Given the description of an element on the screen output the (x, y) to click on. 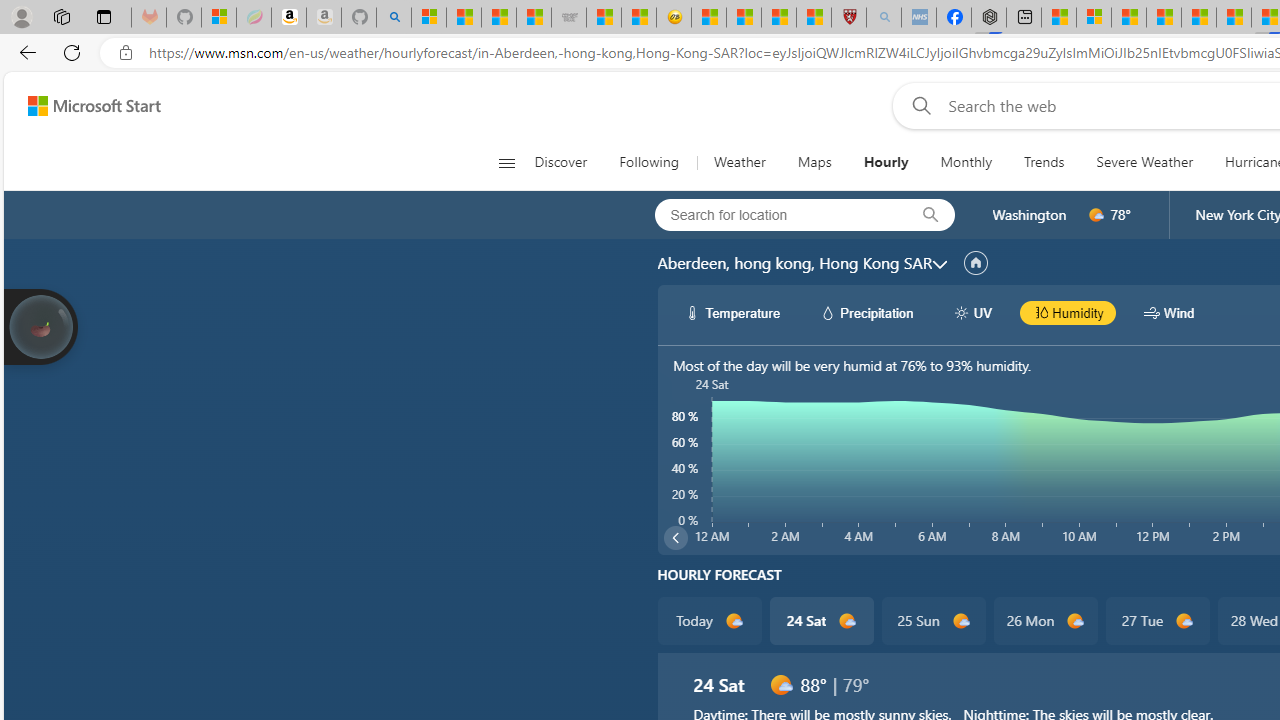
locationBar/search (930, 215)
24 Sat d1000 (821, 620)
Join us in planting real trees to help our planet! (40, 325)
